Given the description of an element on the screen output the (x, y) to click on. 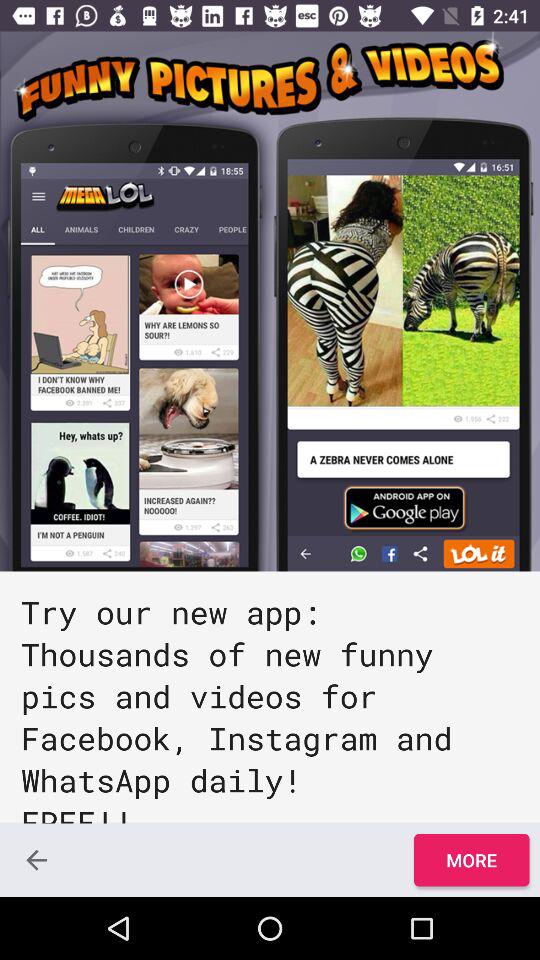
flip until the try our new item (270, 697)
